Given the description of an element on the screen output the (x, y) to click on. 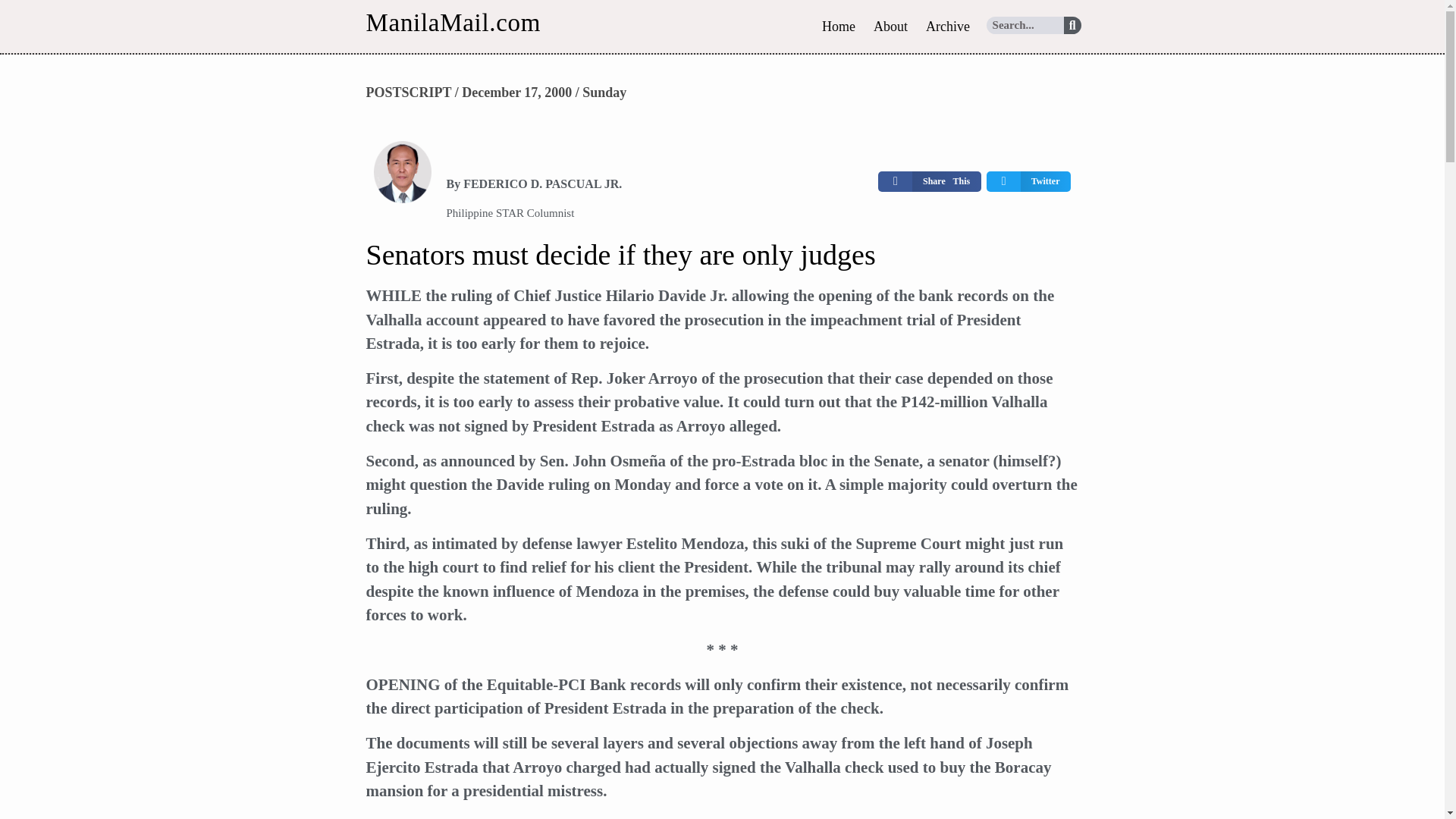
About (890, 26)
Archive (947, 26)
Home (838, 26)
ManilaMail.com (452, 22)
